Given the description of an element on the screen output the (x, y) to click on. 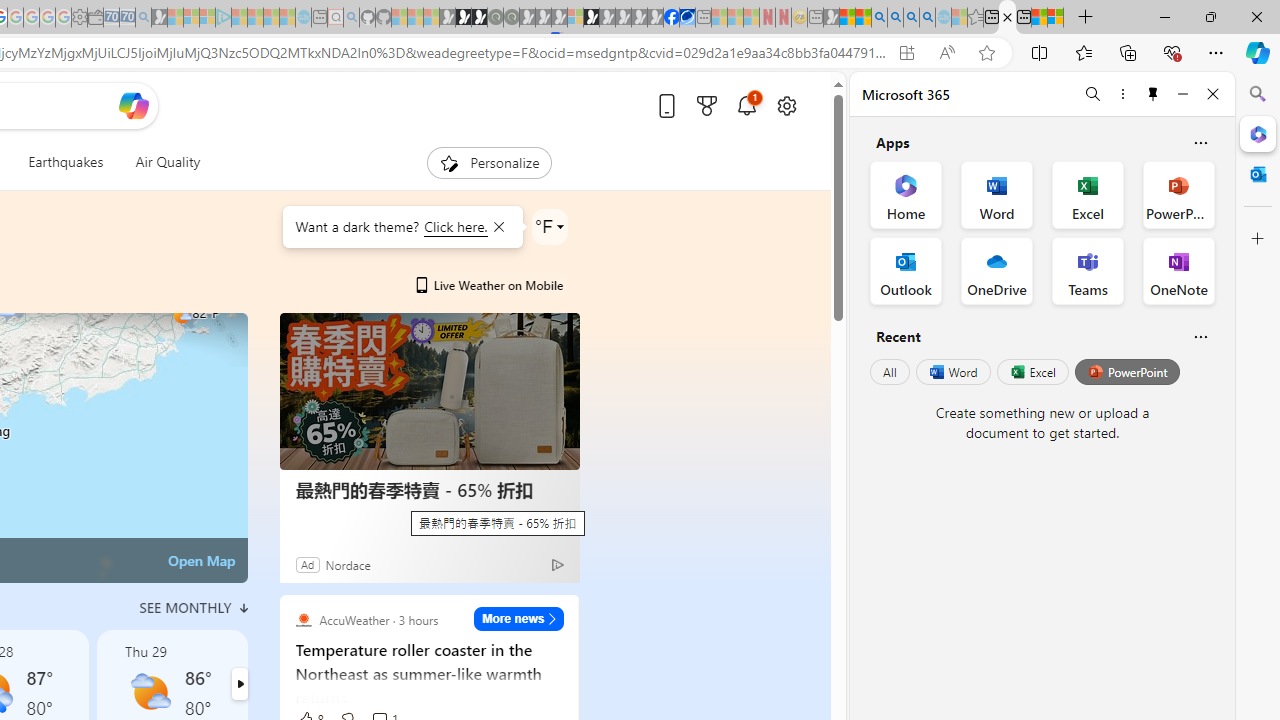
Home Office App (906, 194)
More news (518, 618)
github - Search - Sleeping (351, 17)
Play Zoo Boom in your browser | Games from Microsoft Start (463, 17)
Word (952, 372)
Is this helpful? (1200, 336)
2009 Bing officially replaced Live Search on June 3 - Search (895, 17)
